Given the description of an element on the screen output the (x, y) to click on. 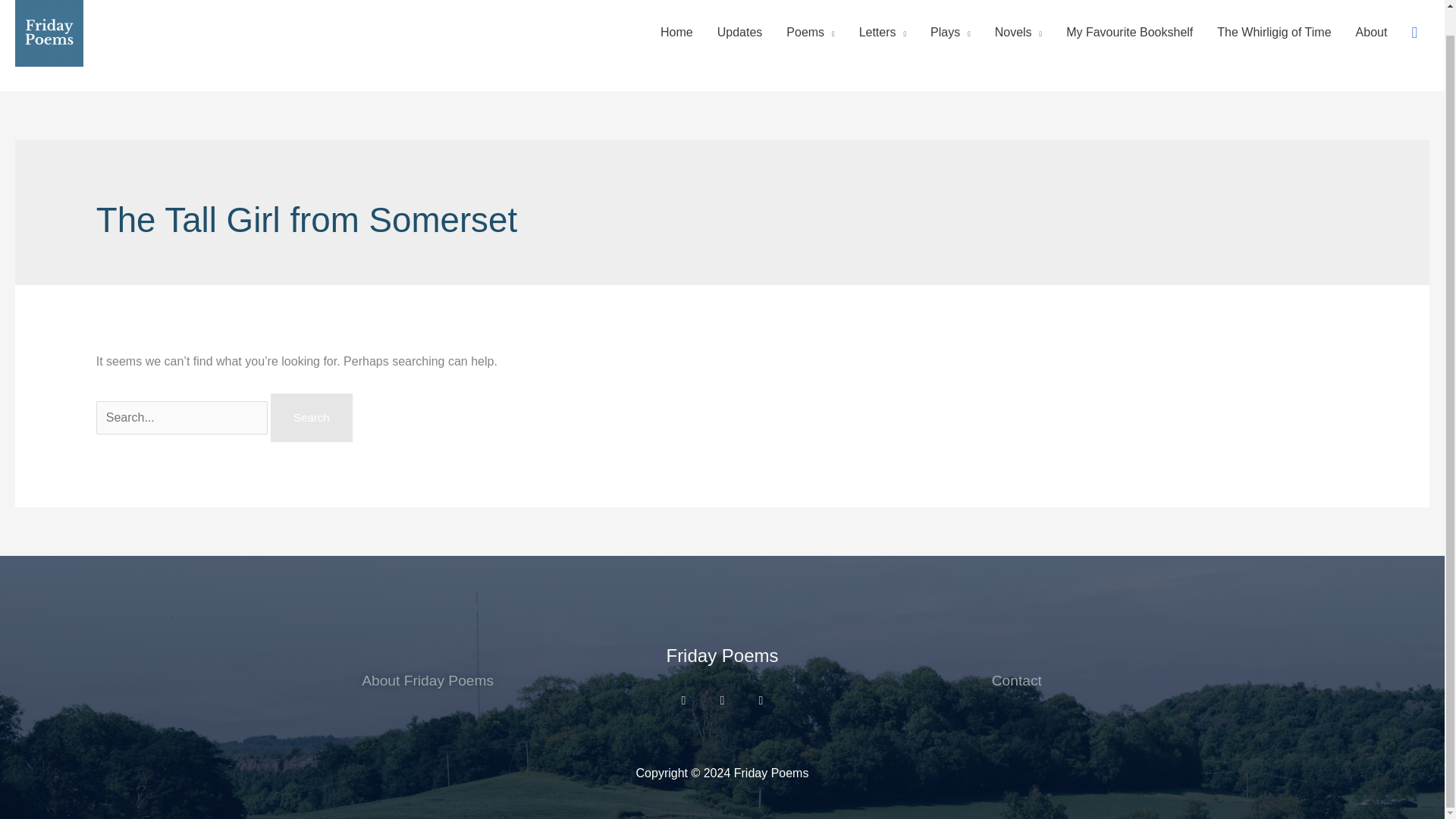
About Friday Poems (427, 680)
Twitter (721, 700)
Home (675, 32)
Updates (739, 32)
Instagram (683, 700)
Friday Poems (721, 655)
Search (311, 417)
My Favourite Bookshelf (1129, 32)
Poems (809, 32)
About (1371, 32)
